Given the description of an element on the screen output the (x, y) to click on. 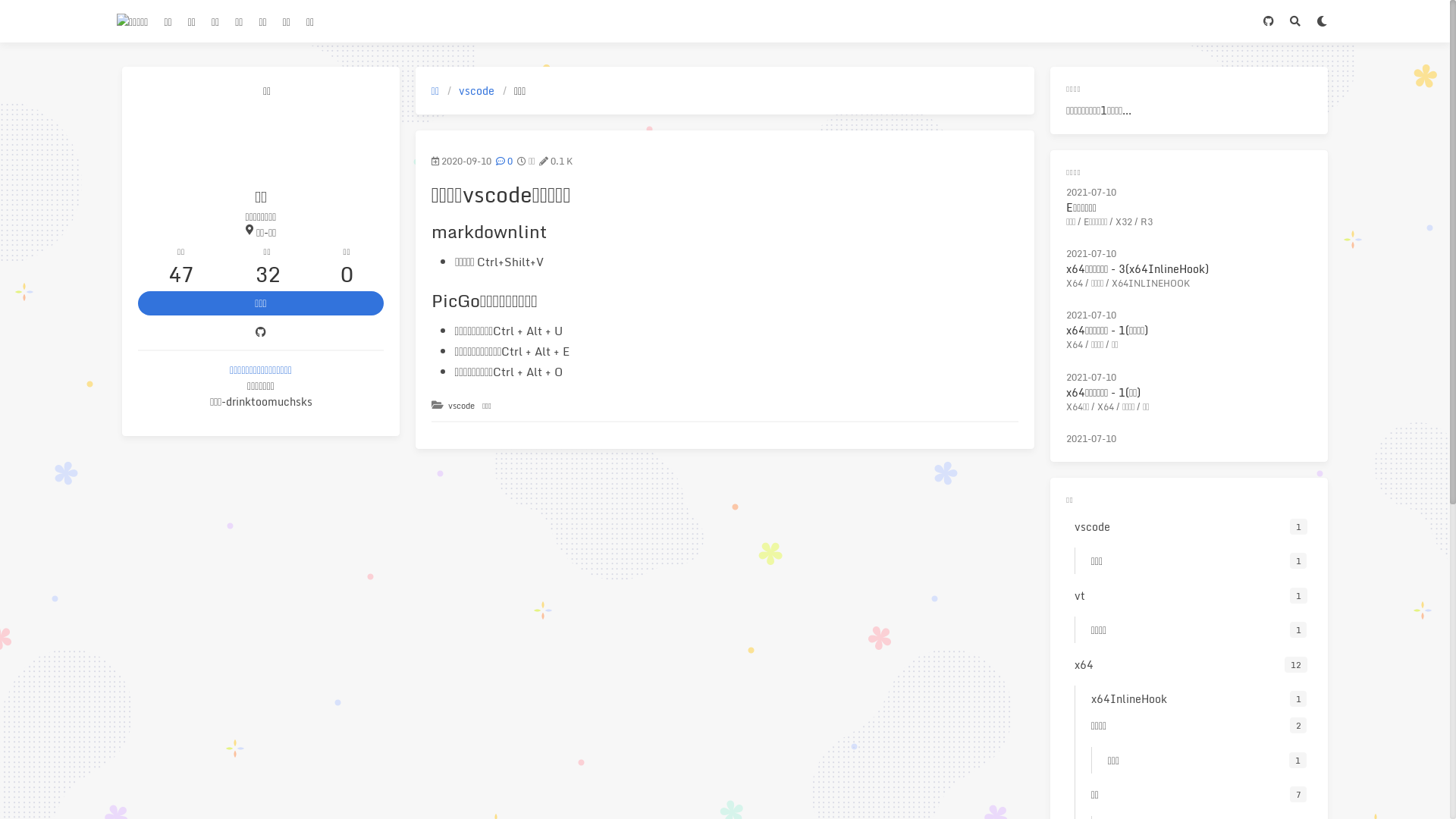
0 Element type: text (346, 274)
X32 Element type: text (1123, 221)
vt
1 Element type: text (1188, 595)
x64InlineHook
1 Element type: text (1196, 698)
R3 Element type: text (1146, 221)
vscode Element type: text (476, 89)
Download on GitHub Element type: hover (1268, 21)
X64 Element type: text (1074, 283)
Night Mode Element type: hover (1321, 21)
vscode Element type: text (460, 405)
X64 Element type: text (1105, 406)
X64 Element type: text (1074, 344)
47 Element type: text (181, 274)
Github Element type: hover (260, 332)
x64
12 Element type: text (1188, 664)
vscode
1 Element type: text (1188, 526)
X64INLINEHOOK Element type: text (1150, 283)
 0   Element type: text (506, 161)
32 Element type: text (267, 274)
